Given the description of an element on the screen output the (x, y) to click on. 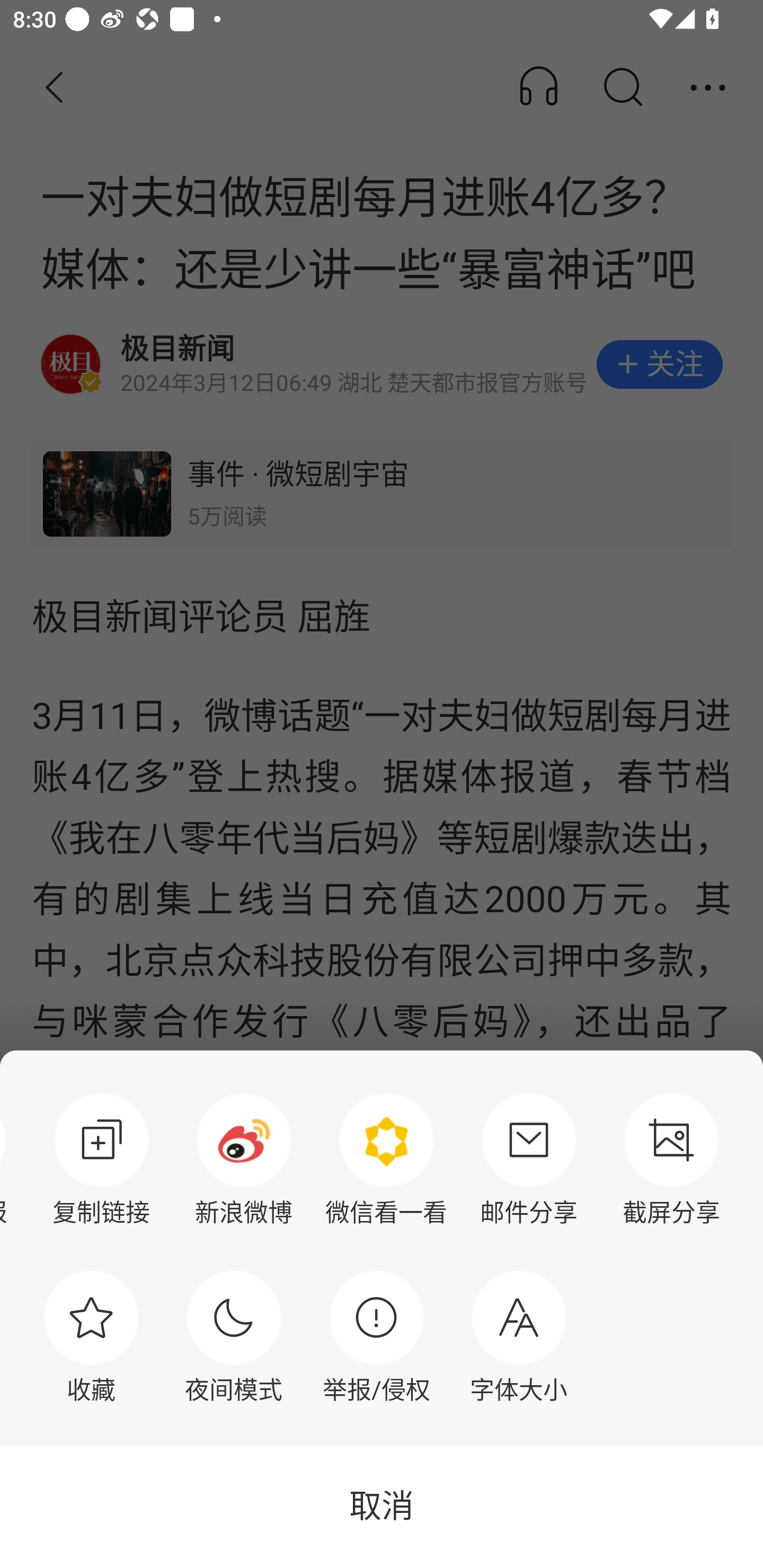
 复制链接 复制链接 (101, 1159)
新浪微博 (243, 1159)
微信看一看 (386, 1159)
 邮件分享 邮件分享 (528, 1159)
 截屏分享 截屏分享 (671, 1159)
 收藏 收藏 (90, 1337)
 夜间模式 夜间模式 (233, 1337)
 举报/侵权 举报/侵权 (376, 1337)
 字体大小 字体大小 (518, 1337)
取消 (381, 1506)
